Given the description of an element on the screen output the (x, y) to click on. 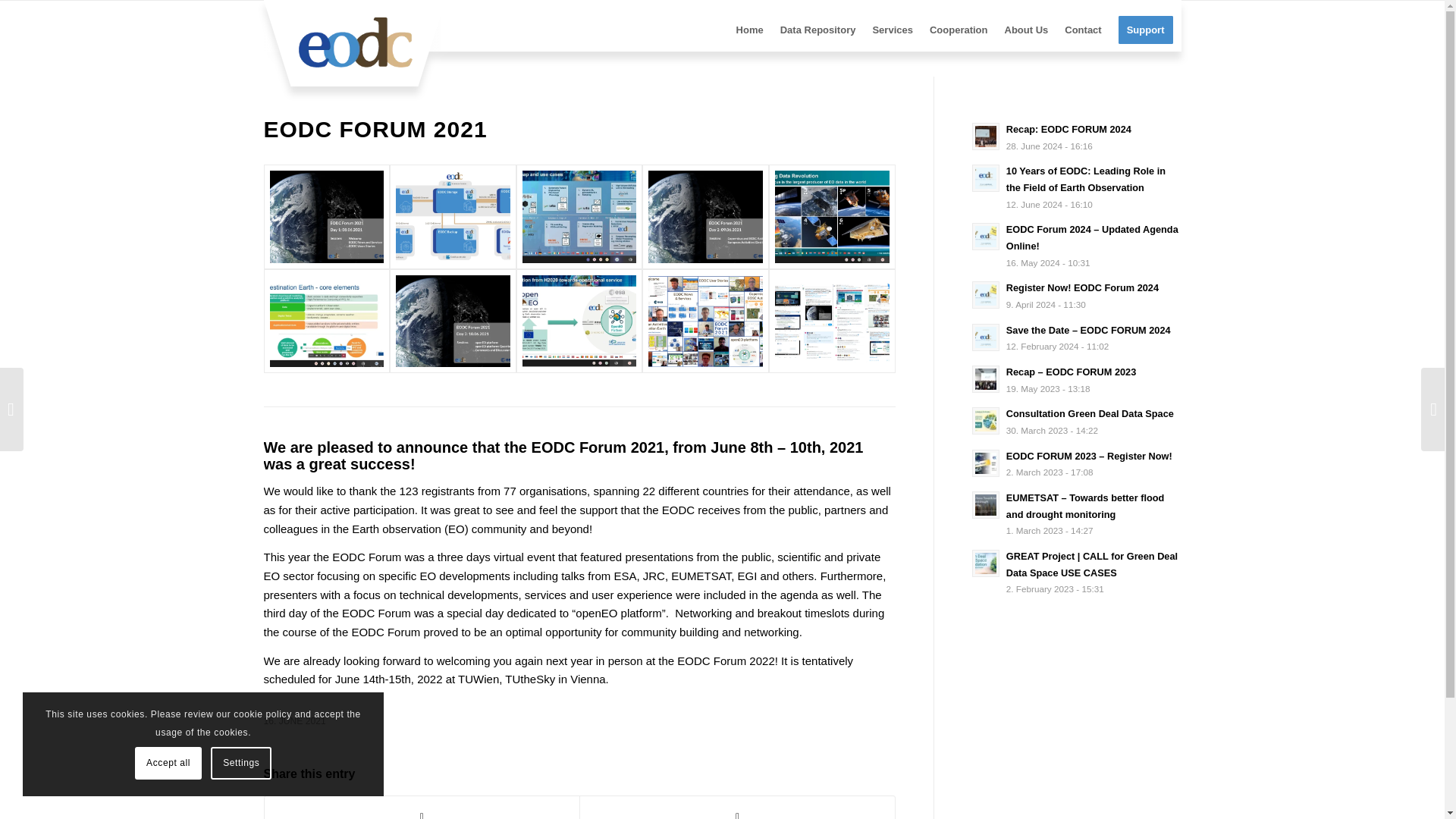
Support (1144, 37)
EODC-Logo-Final (355, 45)
Register Now! EODC Forum 2024 (1082, 287)
Consultation Green Deal Data Space (1089, 413)
EODC-Logo-Final (355, 42)
Recap: EODC FORUM 2024 (1068, 129)
Data Repository (817, 37)
Cooperation (958, 37)
